Given the description of an element on the screen output the (x, y) to click on. 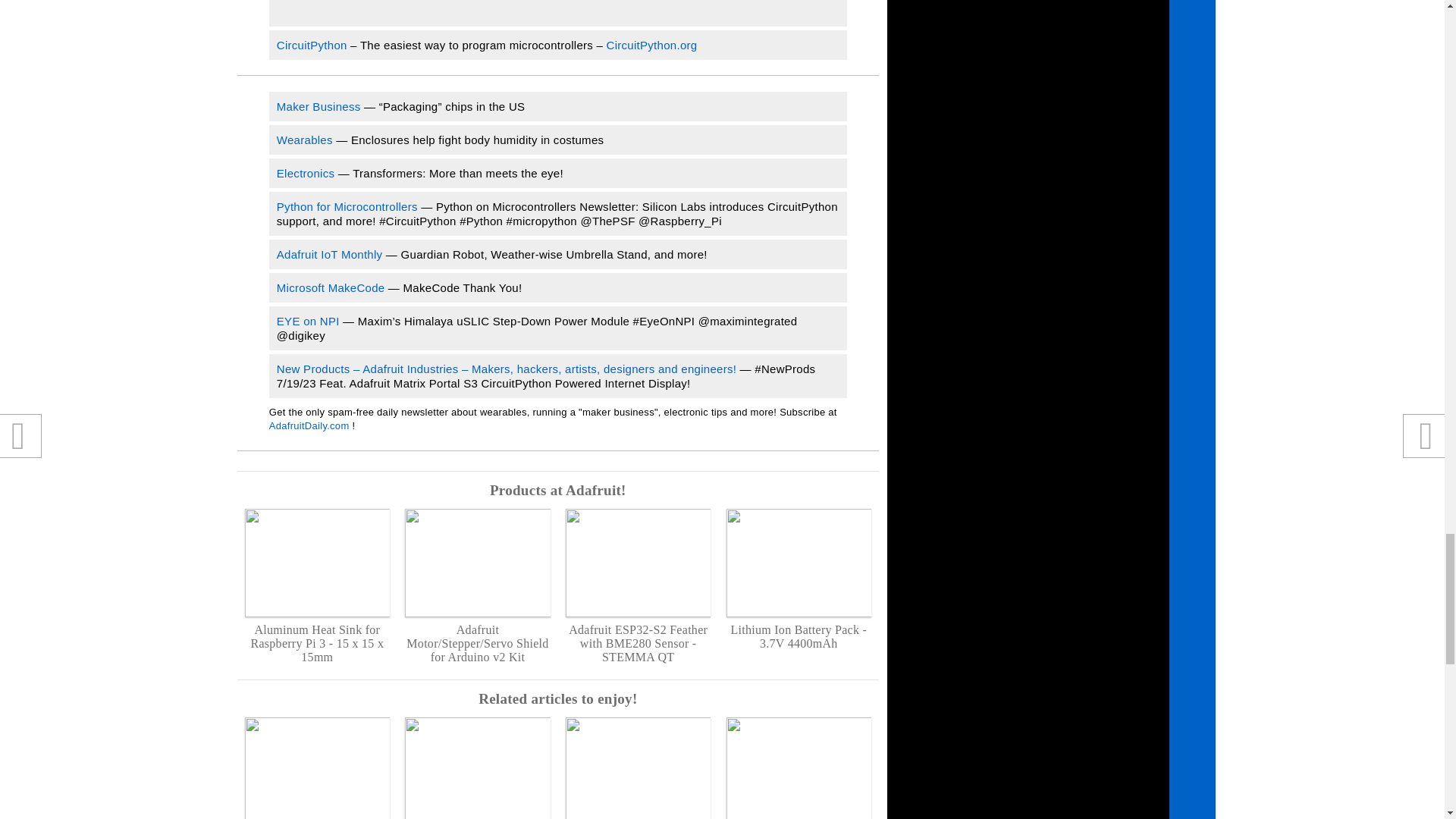
Lithium Ion Battery Pack - 3.7V 4400mAh (798, 579)
Adafruit ESP32-S2 Feather with BME280 Sensor - STEMMA QT (638, 586)
Aluminum Heat Sink for Raspberry Pi 3 - 15 x 15 x 15mm (317, 586)
